Given the description of an element on the screen output the (x, y) to click on. 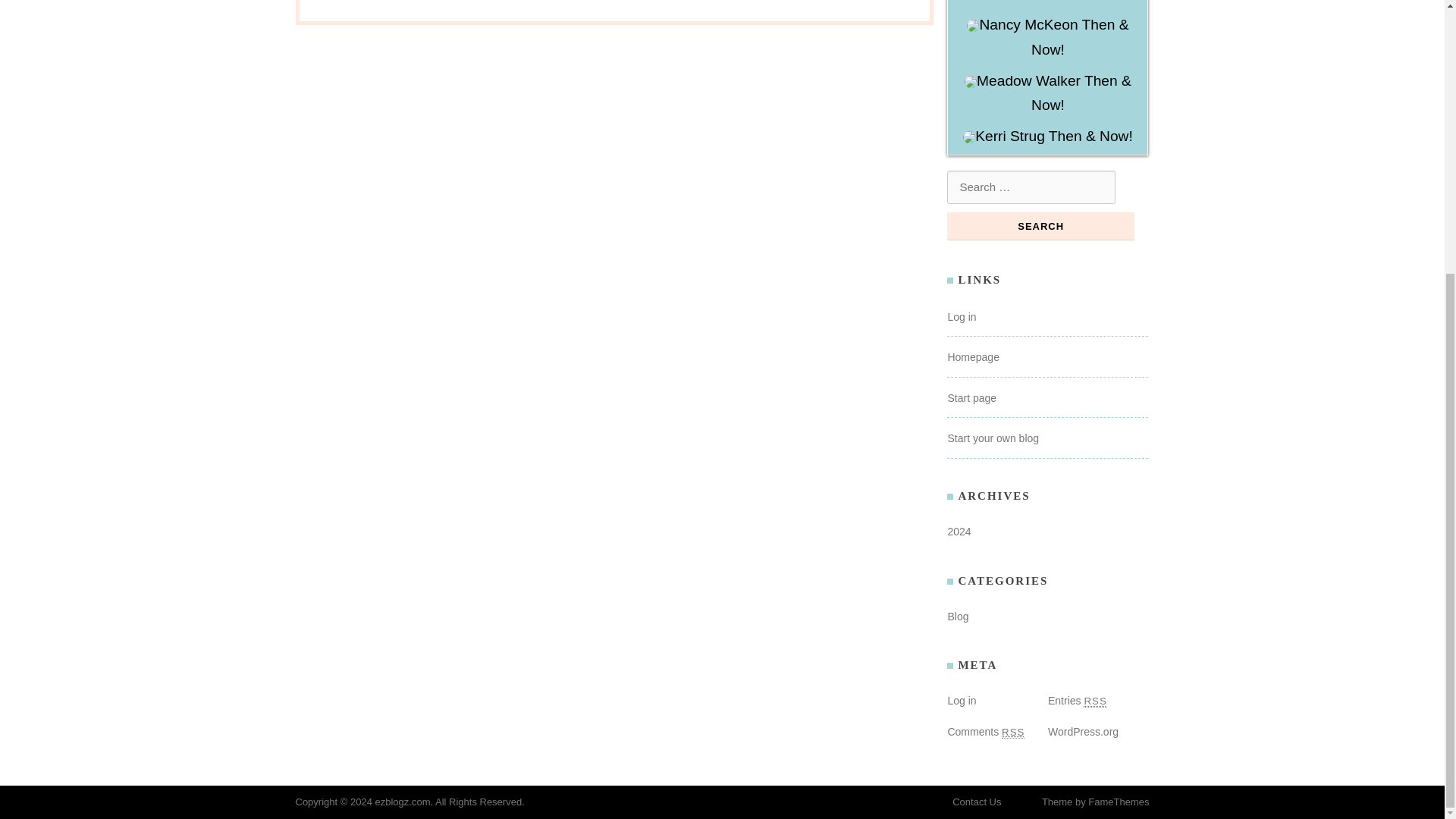
Search (1040, 226)
Comments RSS (986, 731)
Log in (961, 316)
Search (1040, 226)
Search (1040, 226)
Homepage (972, 357)
Really Simple Syndication (1094, 701)
Blog (957, 616)
WordPress.org (1083, 731)
ezblogz.com (401, 801)
Log in (961, 700)
Start page (971, 398)
Contact Us (976, 801)
2024 (959, 531)
